Given the description of an element on the screen output the (x, y) to click on. 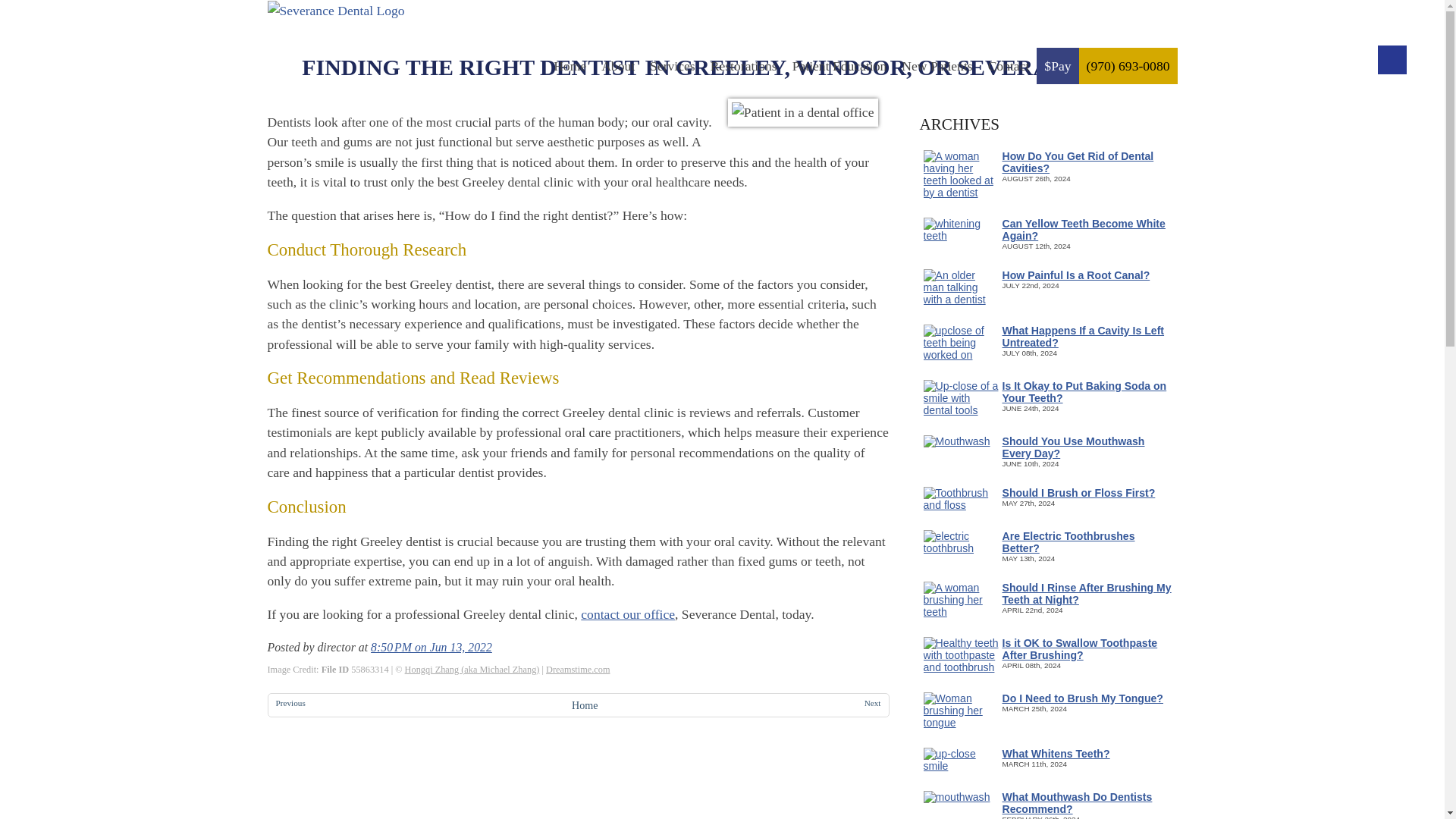
Services (672, 65)
New Patients (936, 65)
Restorations (743, 65)
Patient Education (839, 65)
About (618, 65)
Home (570, 65)
Contact (1007, 65)
